Given the description of an element on the screen output the (x, y) to click on. 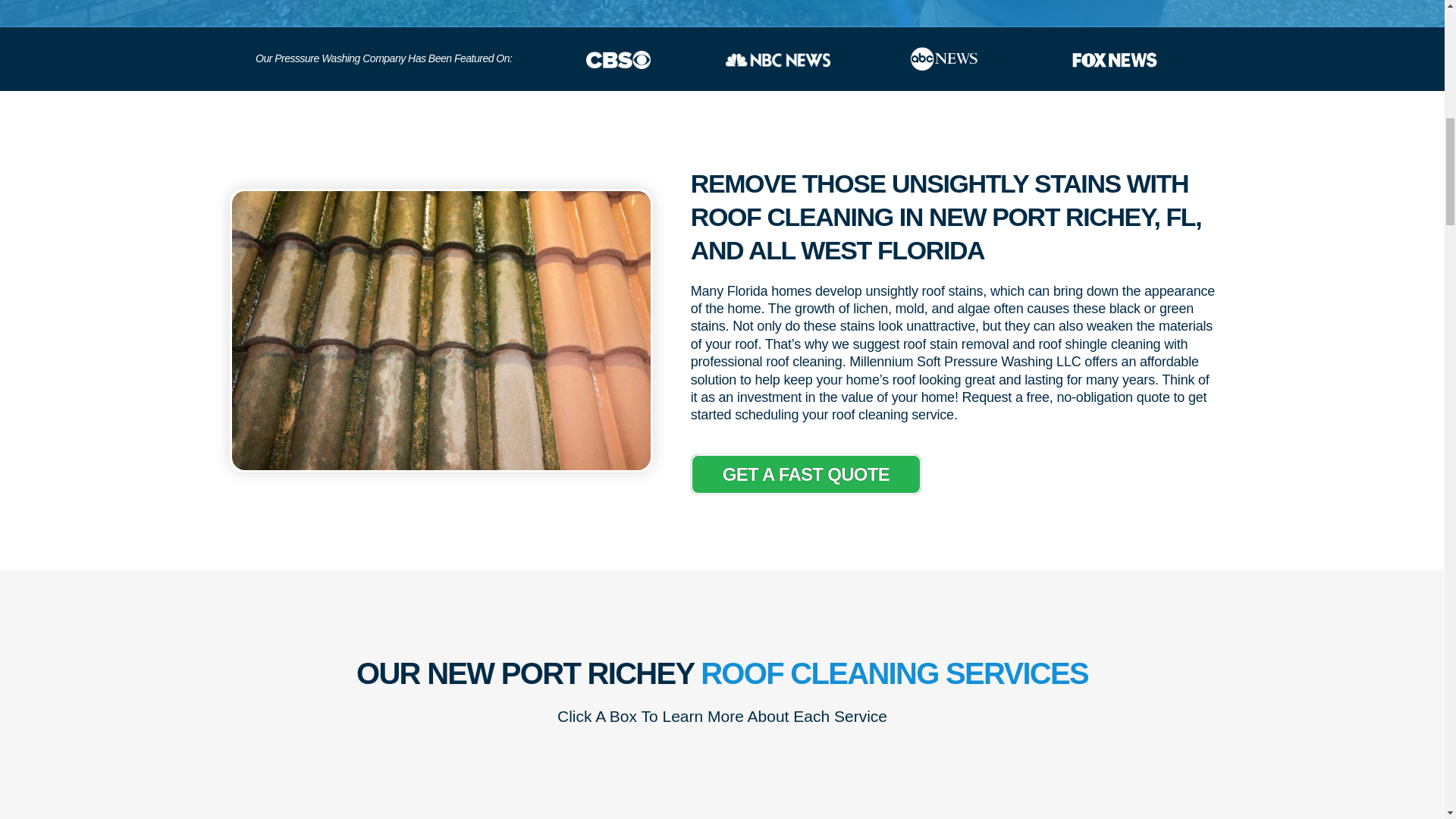
Roof Cleaning (944, 58)
Roof Cleaning (618, 59)
Roof Cleaning (440, 330)
Roof Cleaning (778, 59)
Roof Cleaning (1114, 59)
